Given the description of an element on the screen output the (x, y) to click on. 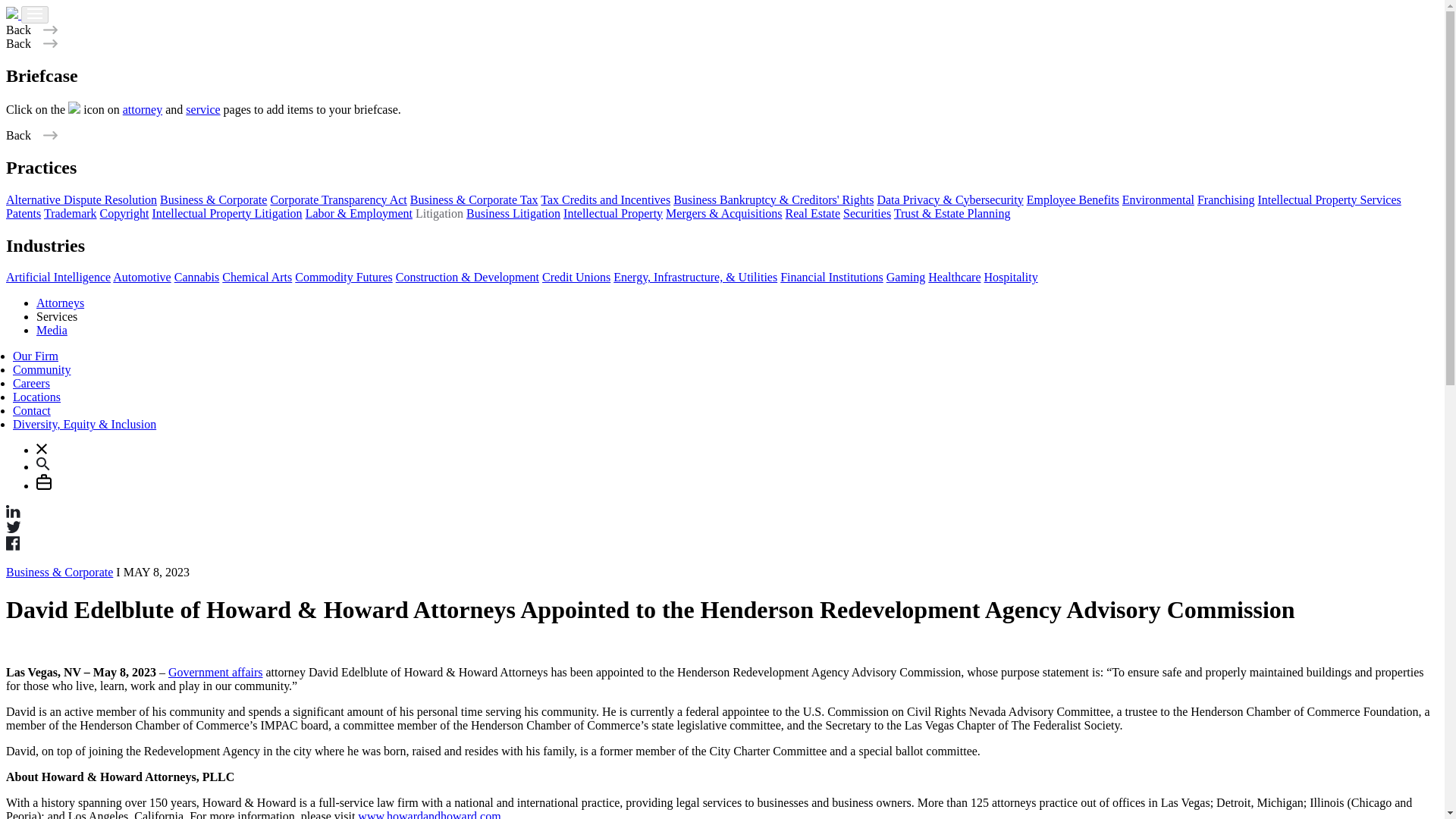
Commodity Futures (343, 277)
Cannabis (196, 277)
Chemical Arts (257, 277)
Securities (867, 213)
Patents (22, 213)
Business Litigation (512, 213)
Financial Institutions (831, 277)
Tax Credits and Incentives (604, 199)
attorney (141, 109)
Back    (31, 134)
Intellectual Property Services (1328, 199)
Back    (31, 42)
Copyright (124, 213)
Trademark (70, 213)
Litigation (438, 213)
